Given the description of an element on the screen output the (x, y) to click on. 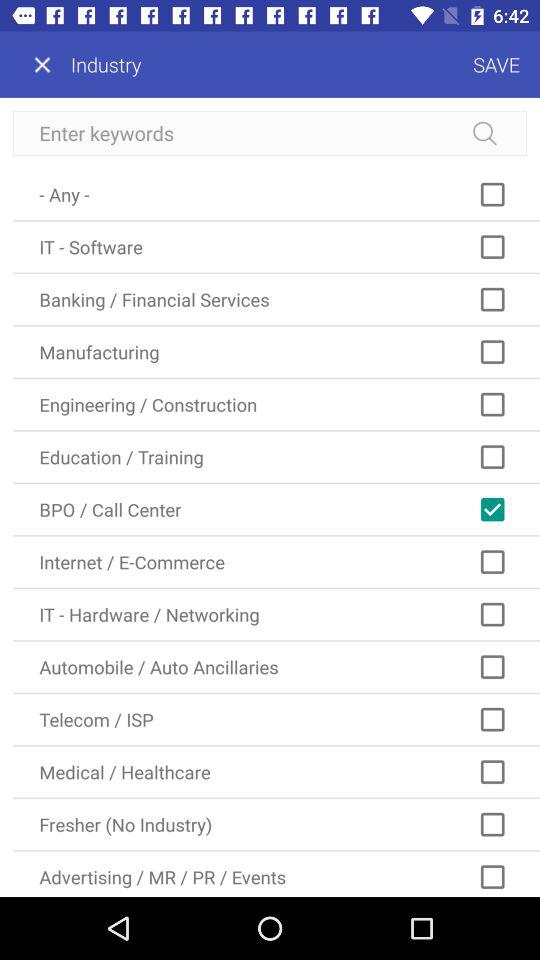
turn on the - any - (276, 194)
